Given the description of an element on the screen output the (x, y) to click on. 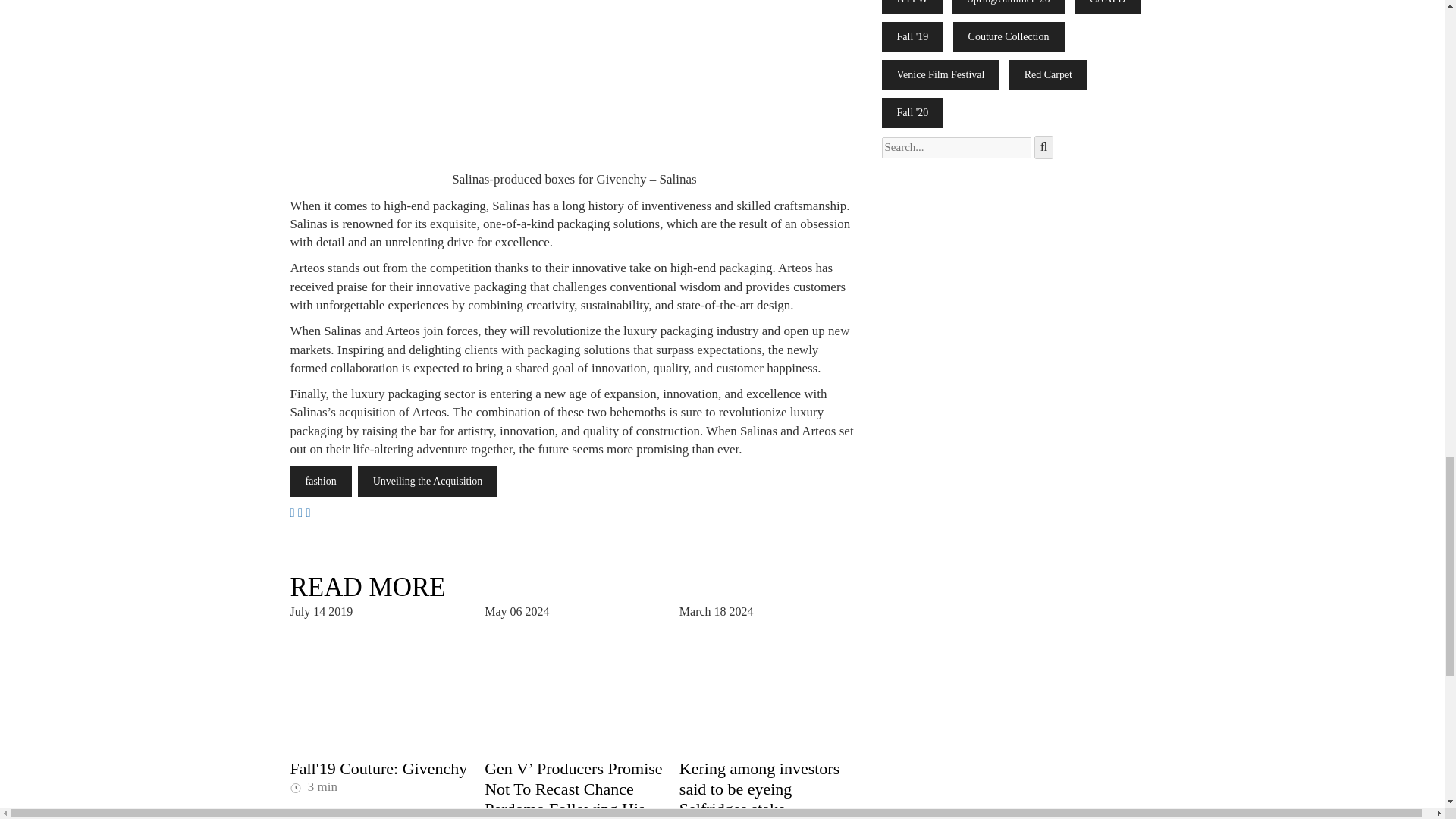
Kering among investors said to be eyeing Selfridges stake (759, 788)
Unveiling the Acquisition (427, 481)
Fall'19 Couture: Givenchy (378, 768)
fashion (319, 481)
